Given the description of an element on the screen output the (x, y) to click on. 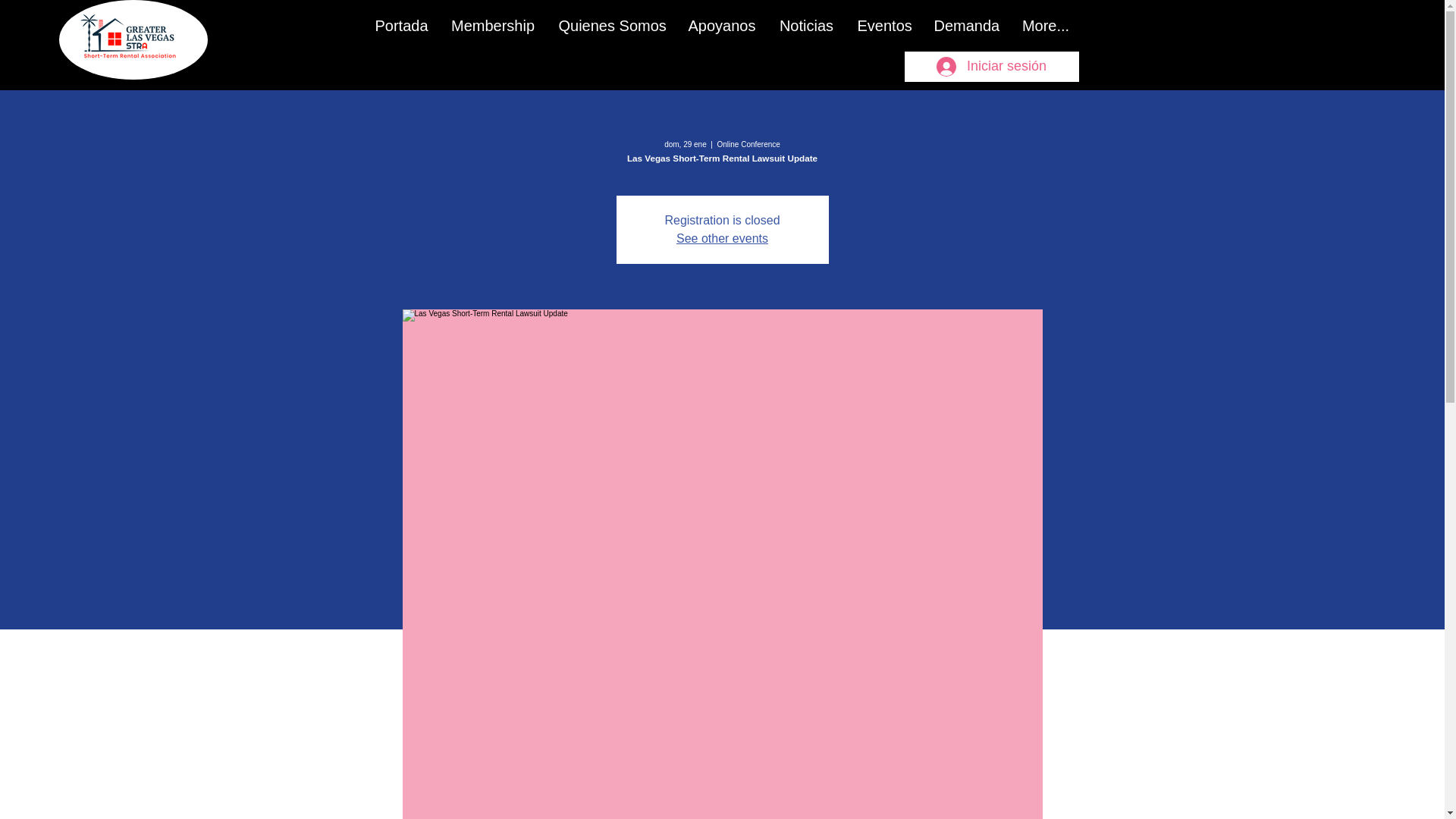
See other events (722, 237)
Noticias (806, 26)
Eventos (884, 26)
Portada (401, 26)
Demanda (965, 26)
Membership (492, 26)
Apoyanos (722, 26)
Quienes Somos (612, 26)
